Given the description of an element on the screen output the (x, y) to click on. 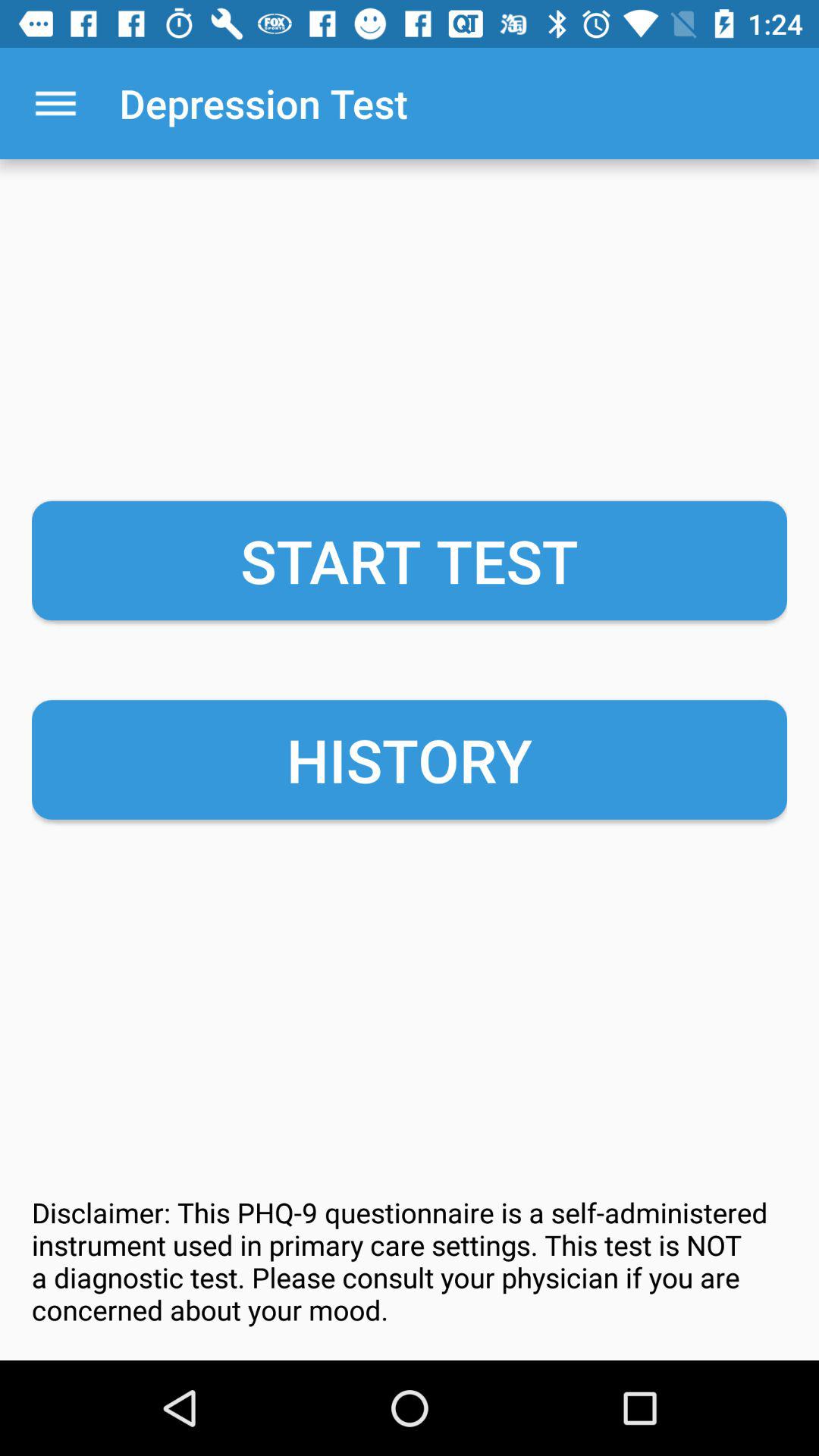
turn on item above start test item (55, 103)
